Given the description of an element on the screen output the (x, y) to click on. 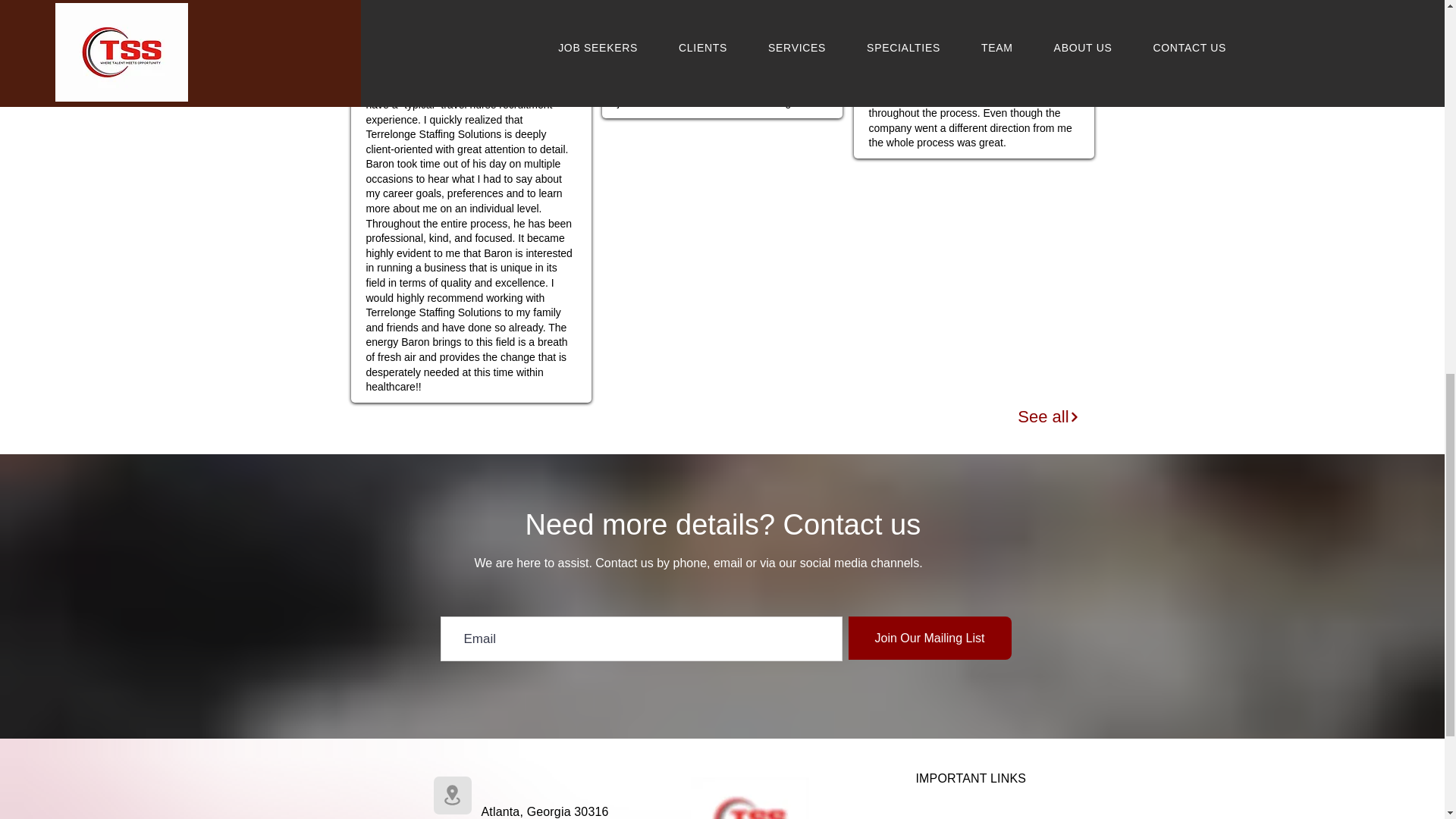
hannah fitzgerald (423, 53)
Join Our Mailing List (928, 638)
Ryan Larkin (909, 76)
See all (1048, 416)
